Given the description of an element on the screen output the (x, y) to click on. 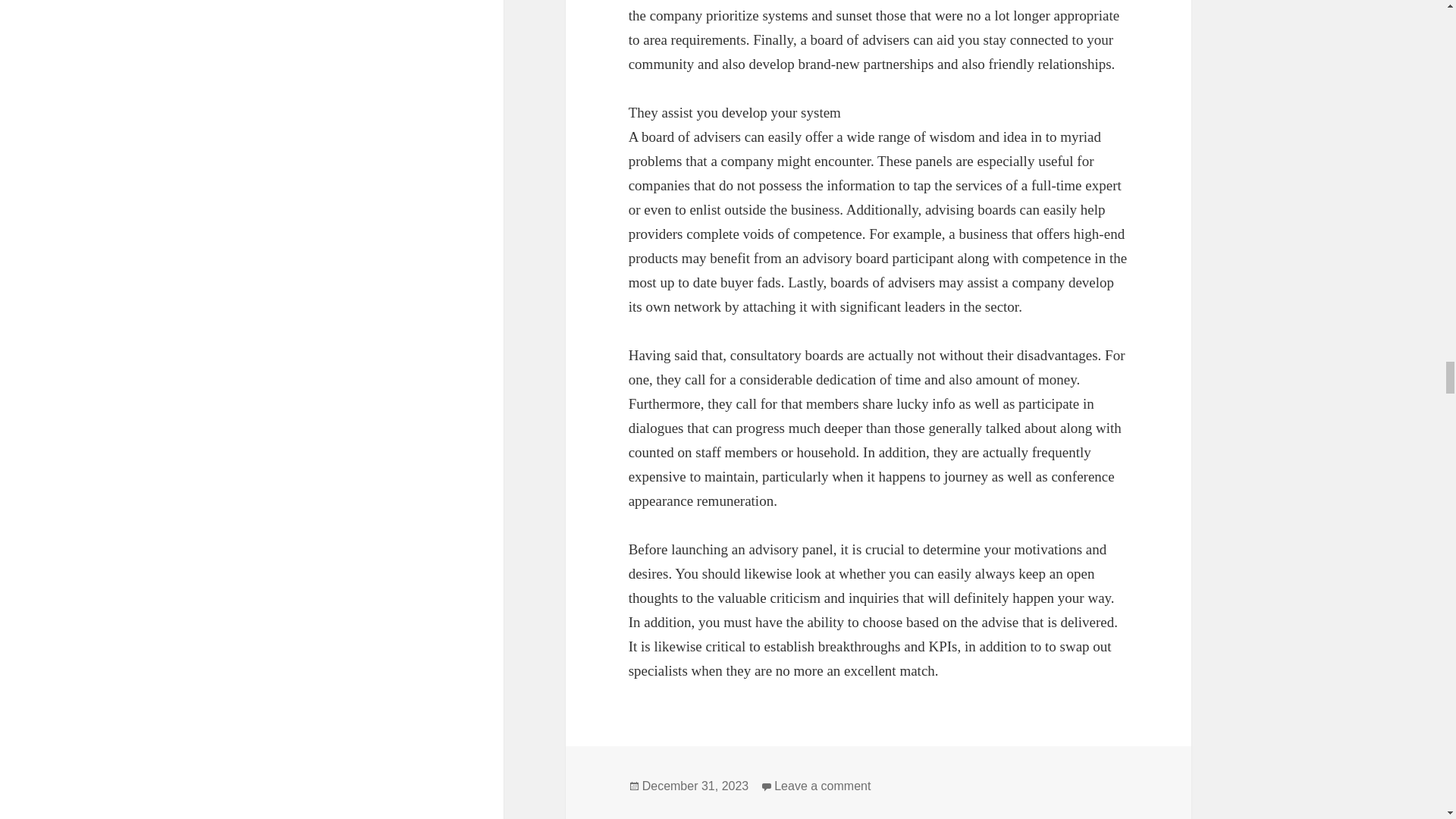
December 31, 2023 (695, 786)
